Given the description of an element on the screen output the (x, y) to click on. 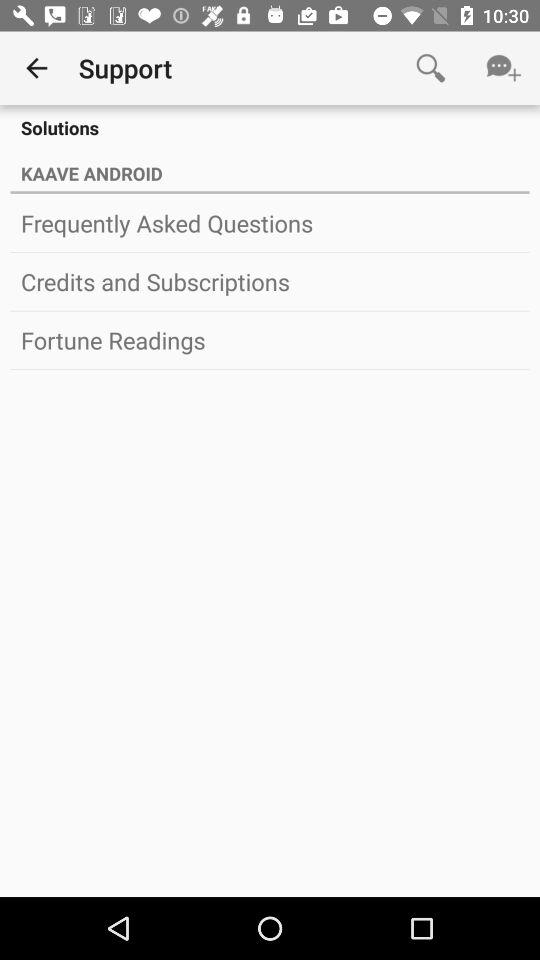
launch the item to the right of the support item (430, 67)
